Given the description of an element on the screen output the (x, y) to click on. 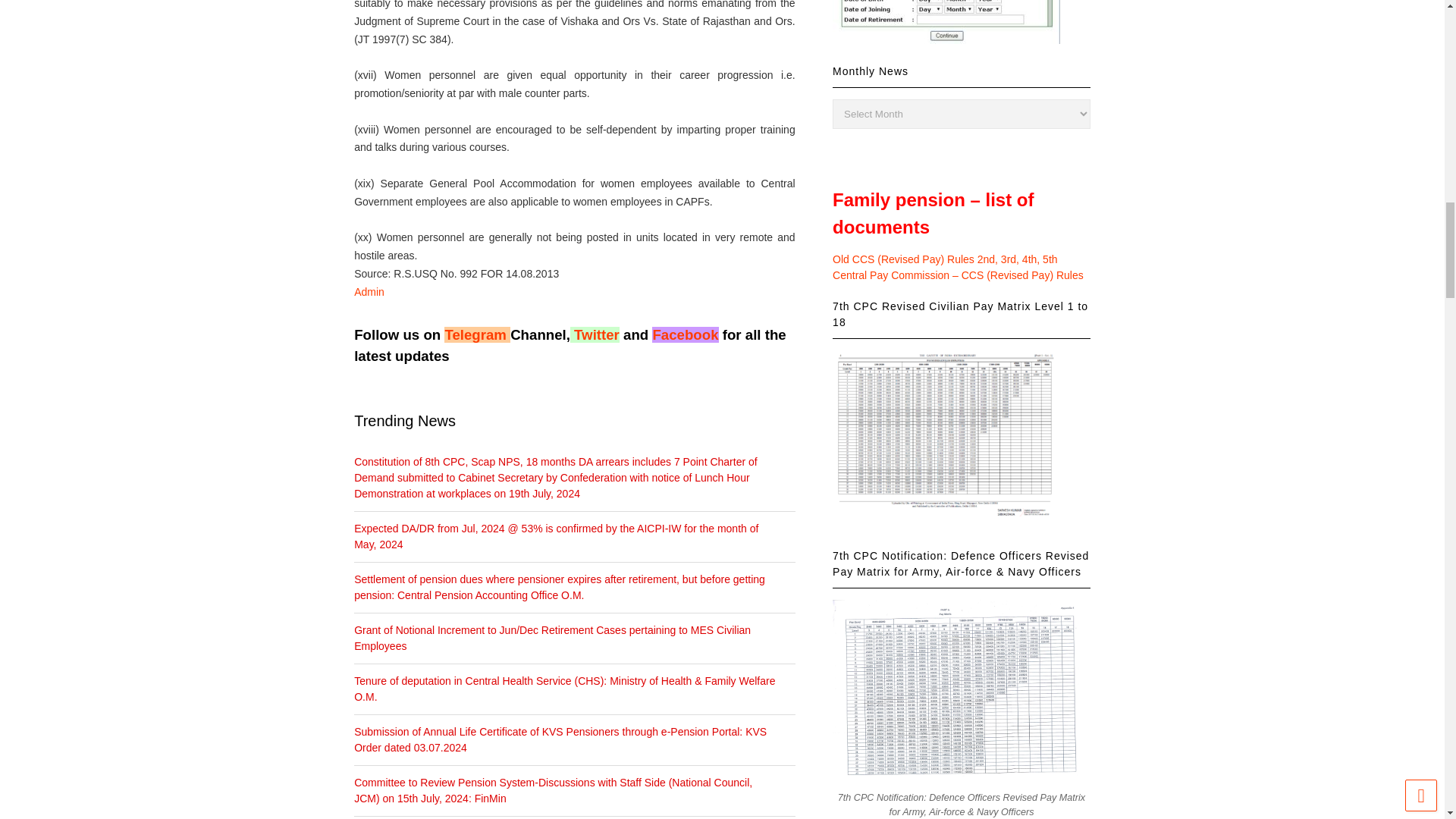
Subscribe on Telegram (475, 334)
Subscribe on Twitter (596, 334)
